Given the description of an element on the screen output the (x, y) to click on. 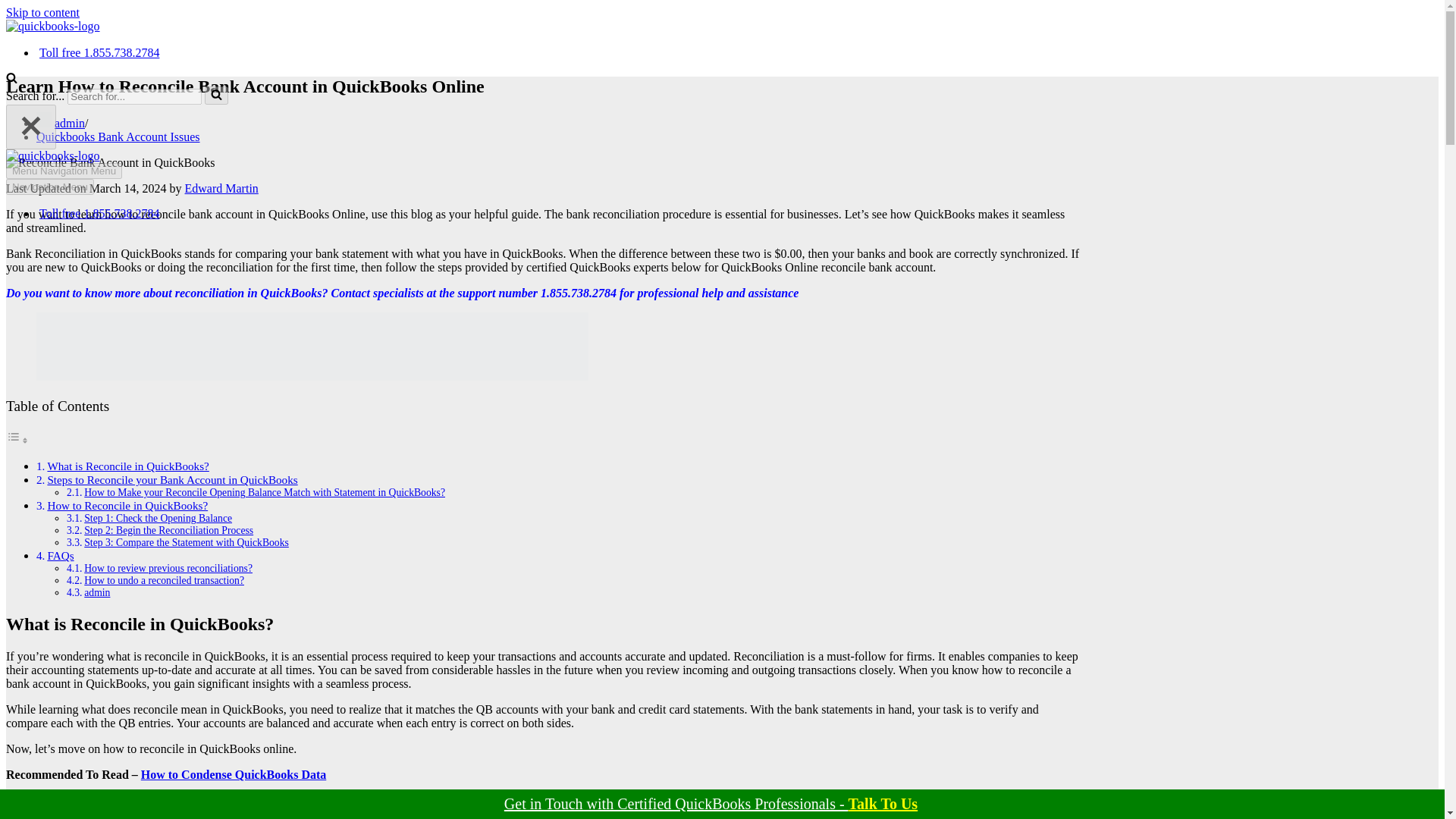
Step 3: Compare the Statement with QuickBooks (186, 542)
Step 1: Check the Opening Balance (157, 518)
Learn How to Reconcile Bank Account in QuickBooks Online (110, 162)
Step 3: Compare the Statement with QuickBooks (186, 542)
Steps to Reconcile your Bank Account in QuickBooks (171, 479)
Toll free 1.855.738.2784 (98, 52)
FAQs (60, 554)
Learn How to Reconcile Bank Account in QuickBooks Online (52, 26)
FAQs (60, 554)
